Given the description of an element on the screen output the (x, y) to click on. 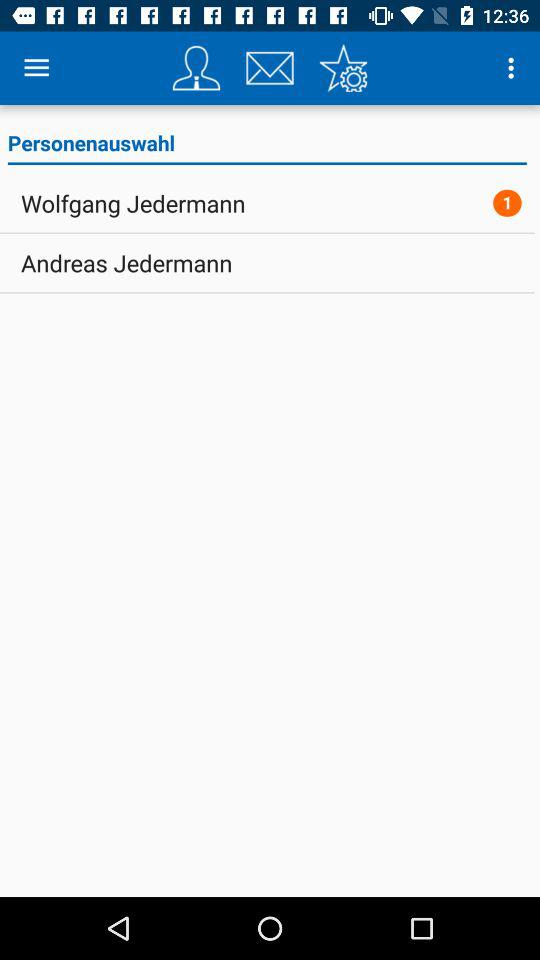
swipe to andreas jedermann (126, 263)
